Given the description of an element on the screen output the (x, y) to click on. 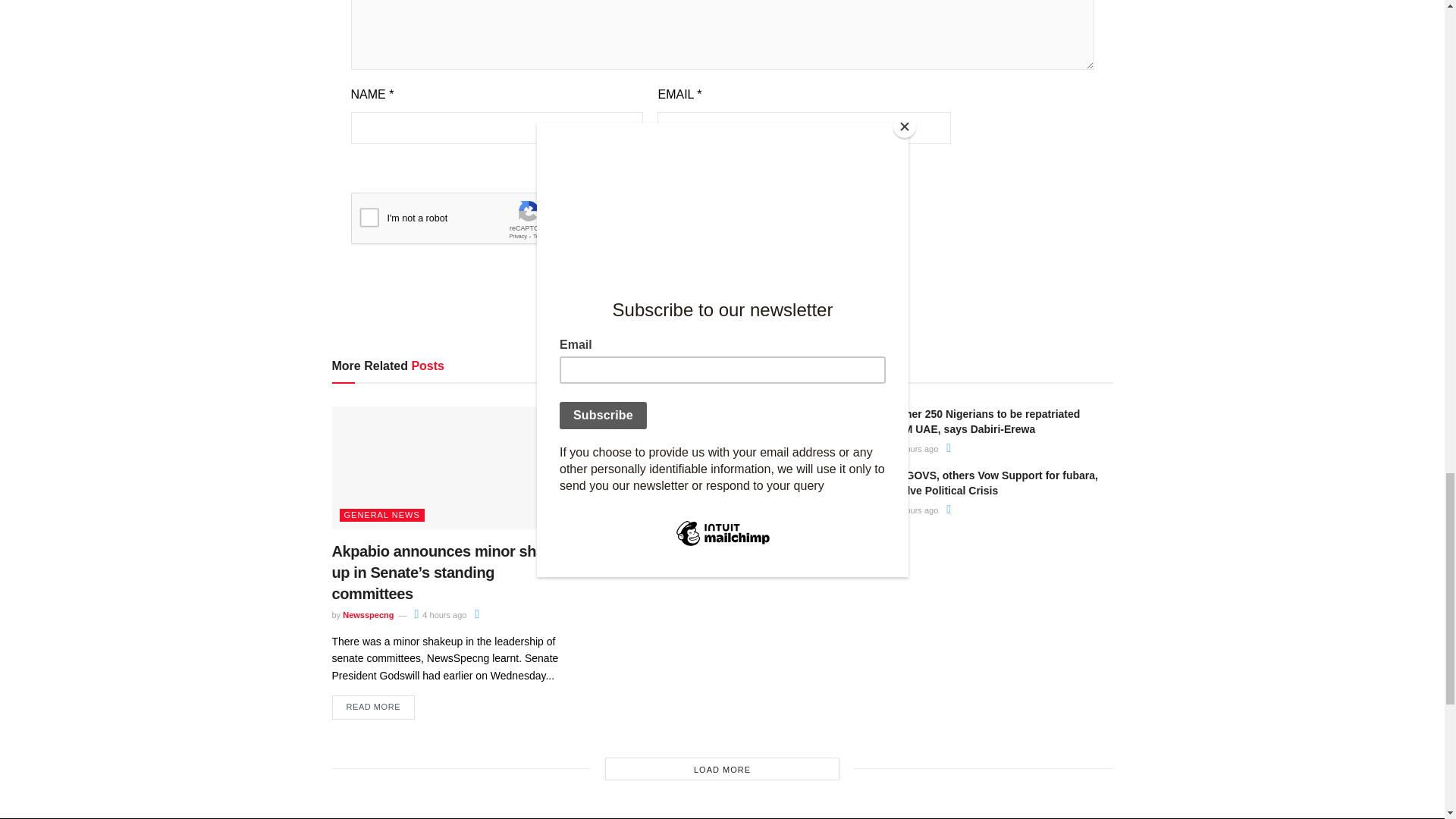
yes (555, 164)
Post Comment (722, 271)
reCAPTCHA (465, 221)
